Given the description of an element on the screen output the (x, y) to click on. 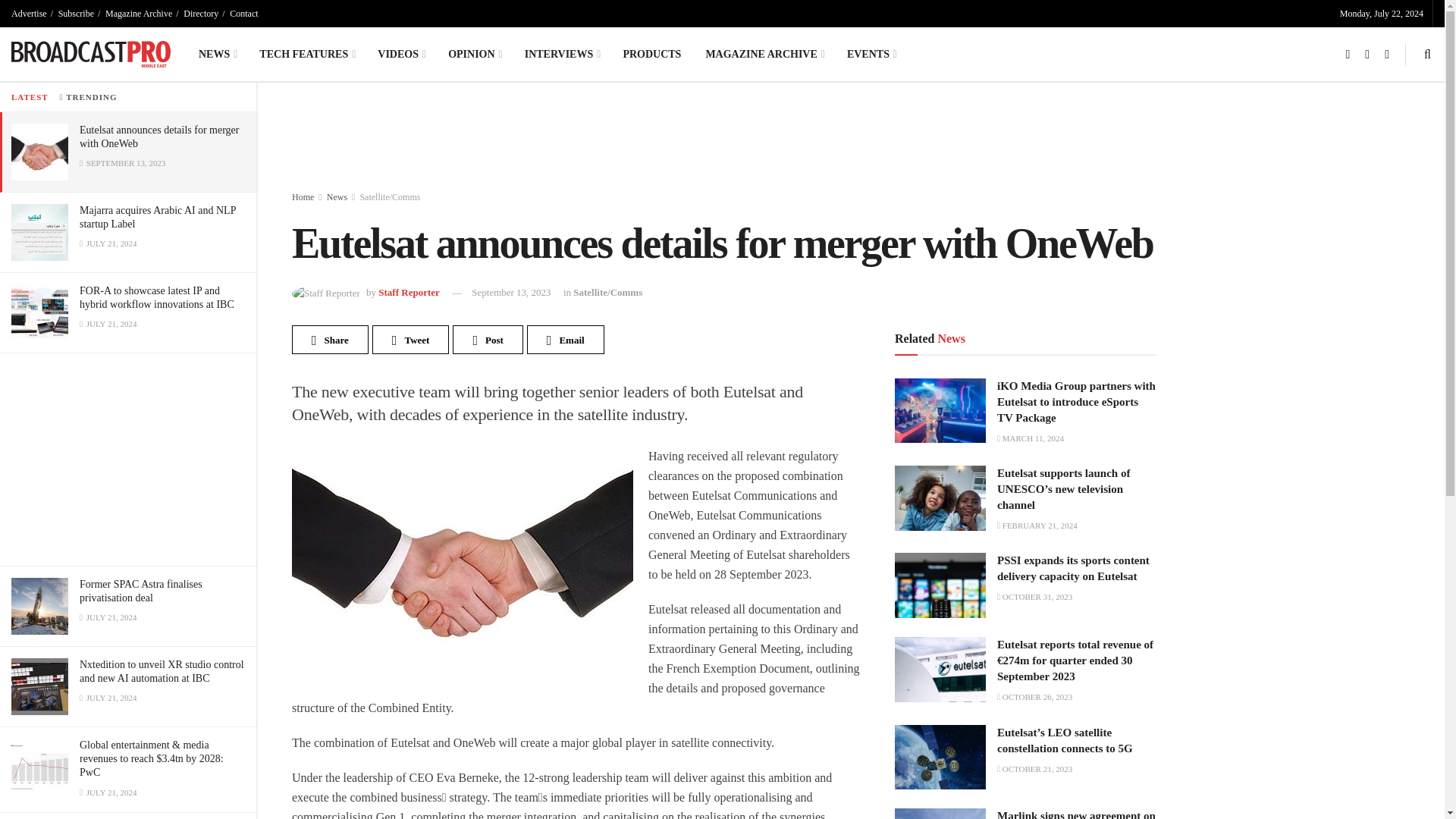
Magazine Archive (137, 13)
Majarra acquires Arabic AI and NLP startup Label (157, 217)
Former SPAC Astra finalises privatisation deal (141, 590)
Subscribe (76, 13)
3rd party ad content (659, 139)
3rd party ad content (127, 459)
Advertise (28, 13)
Contact (243, 13)
Eutelsat announces details for merger with OneWeb (159, 136)
Directory (200, 13)
